Given the description of an element on the screen output the (x, y) to click on. 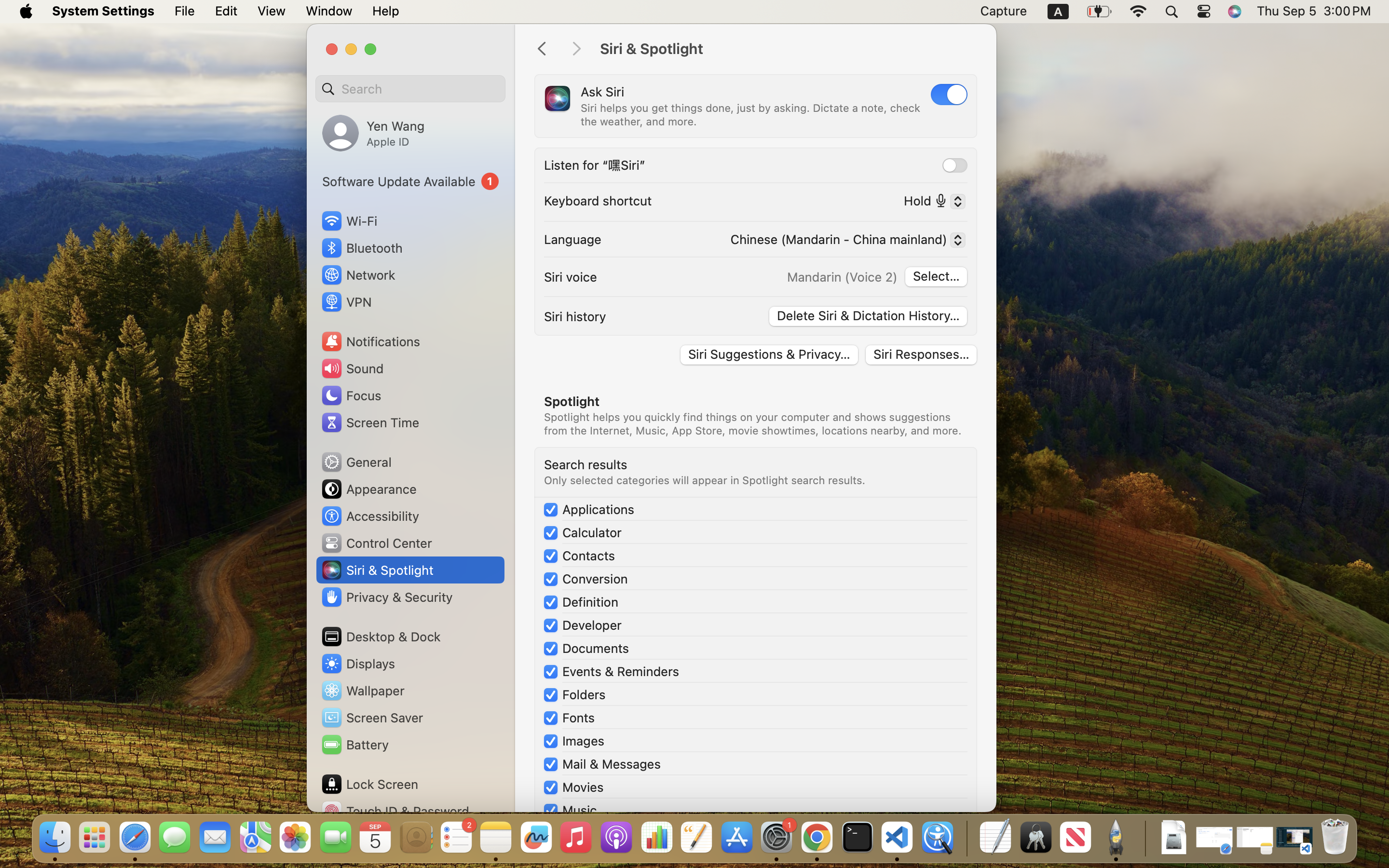
Search results Element type: AXStaticText (585, 463)
Privacy & Security Element type: AXStaticText (386, 596)
Siri voice Element type: AXStaticText (570, 276)
Language Element type: AXStaticText (572, 238)
